Given the description of an element on the screen output the (x, y) to click on. 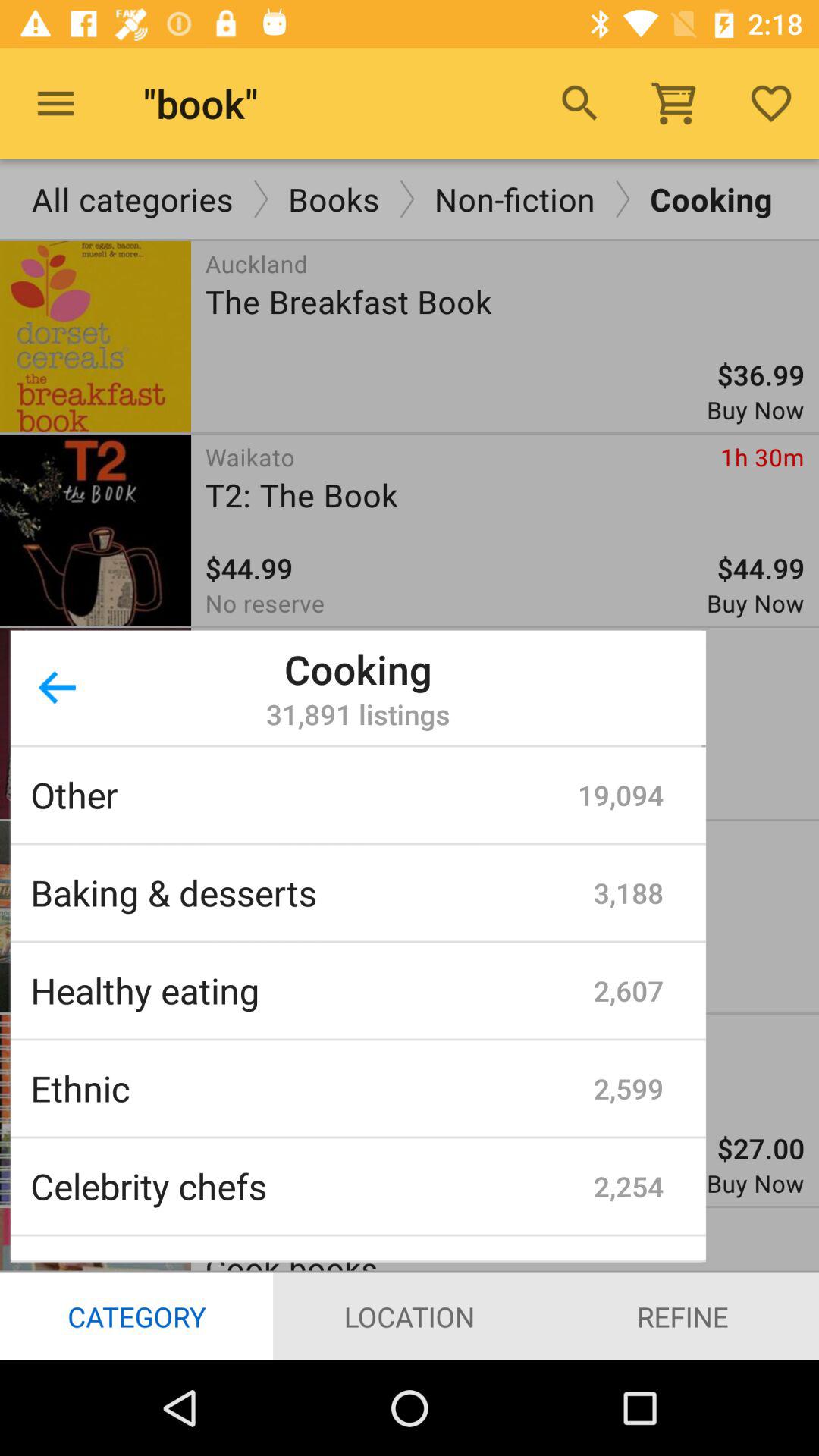
open icon next to the 3,188 (311, 892)
